Given the description of an element on the screen output the (x, y) to click on. 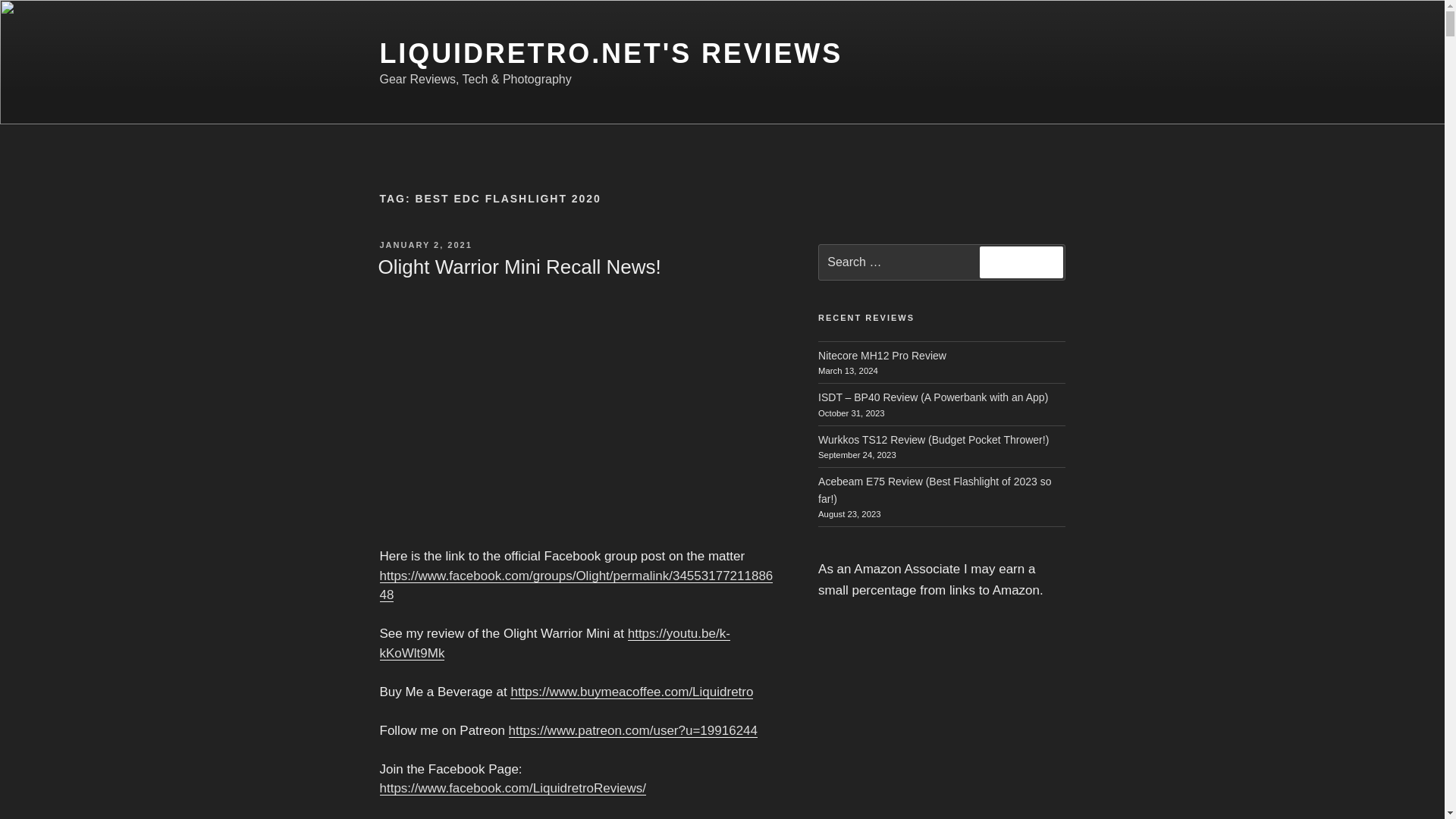
JANUARY 2, 2021 (424, 244)
Olight Warrior Mini Recall News! (519, 266)
LIQUIDRETRO.NET'S REVIEWS (610, 52)
Olight Warrior Mini Voluntary Return News! (577, 409)
